Given the description of an element on the screen output the (x, y) to click on. 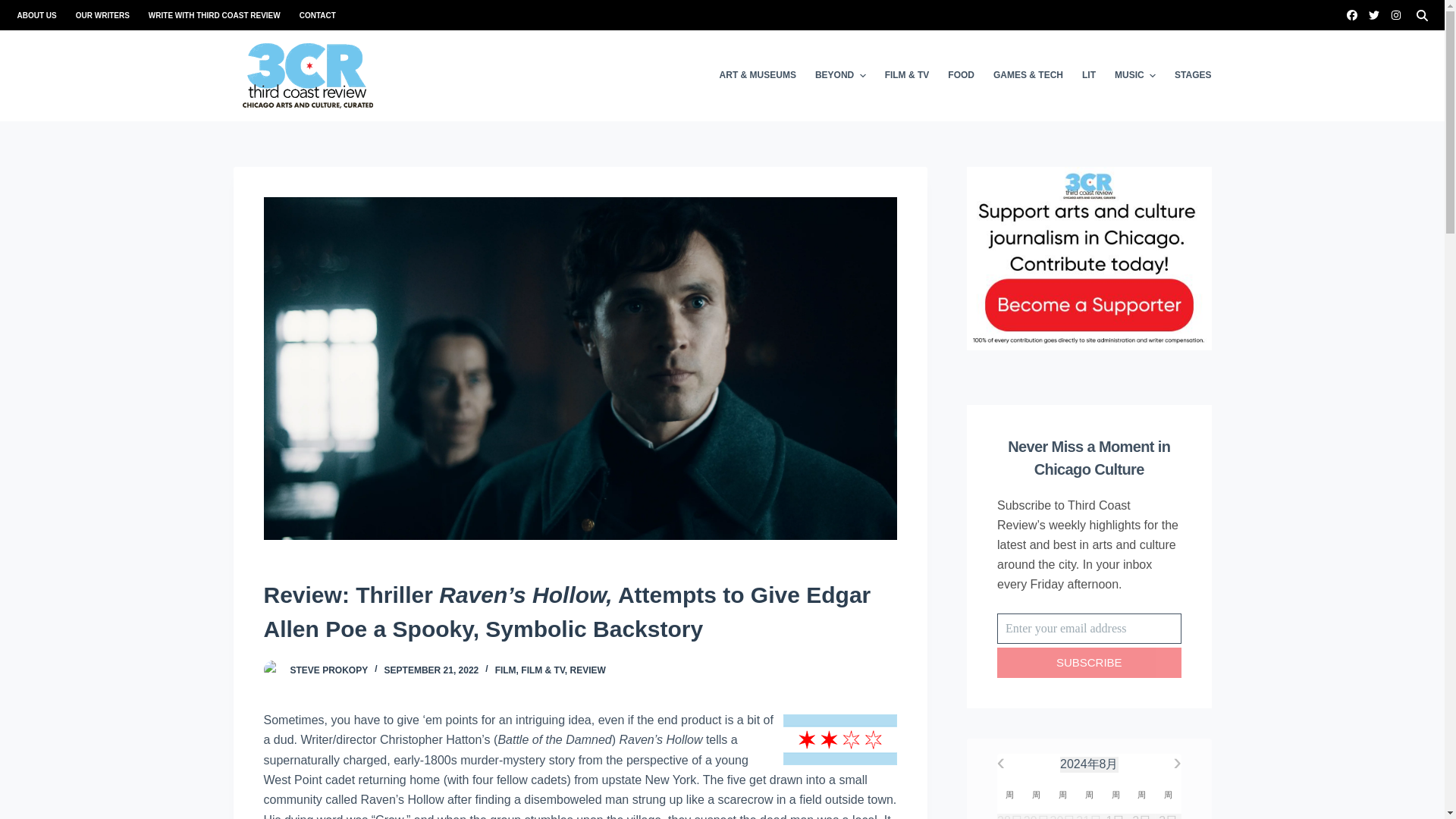
CONTACT (312, 15)
OUR WRITERS (101, 15)
WRITE WITH THIRD COAST REVIEW (213, 15)
ABOUT US (40, 15)
